Given the description of an element on the screen output the (x, y) to click on. 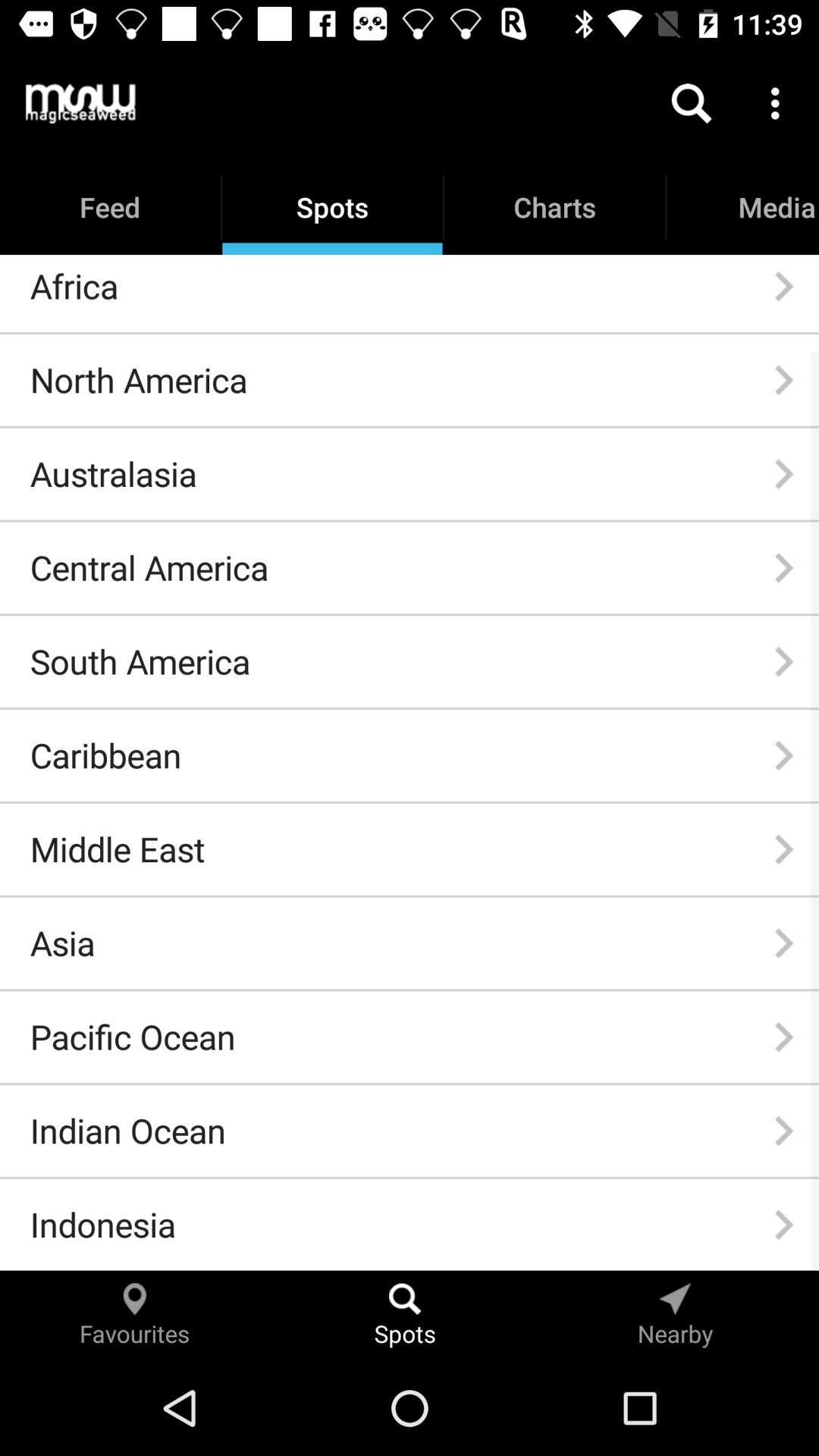
select the icon above feed (80, 103)
